Given the description of an element on the screen output the (x, y) to click on. 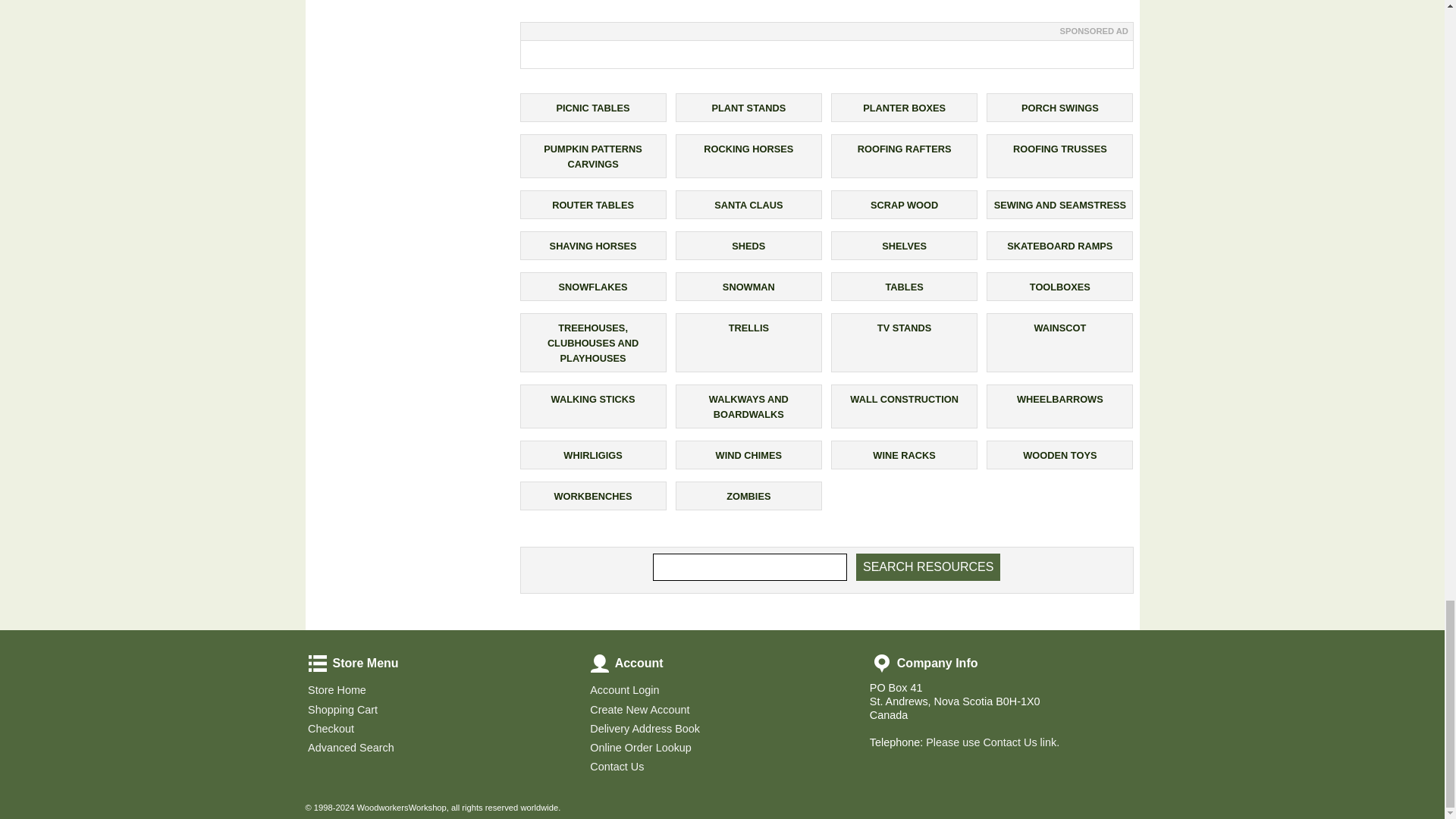
Search Resources (928, 566)
